Given the description of an element on the screen output the (x, y) to click on. 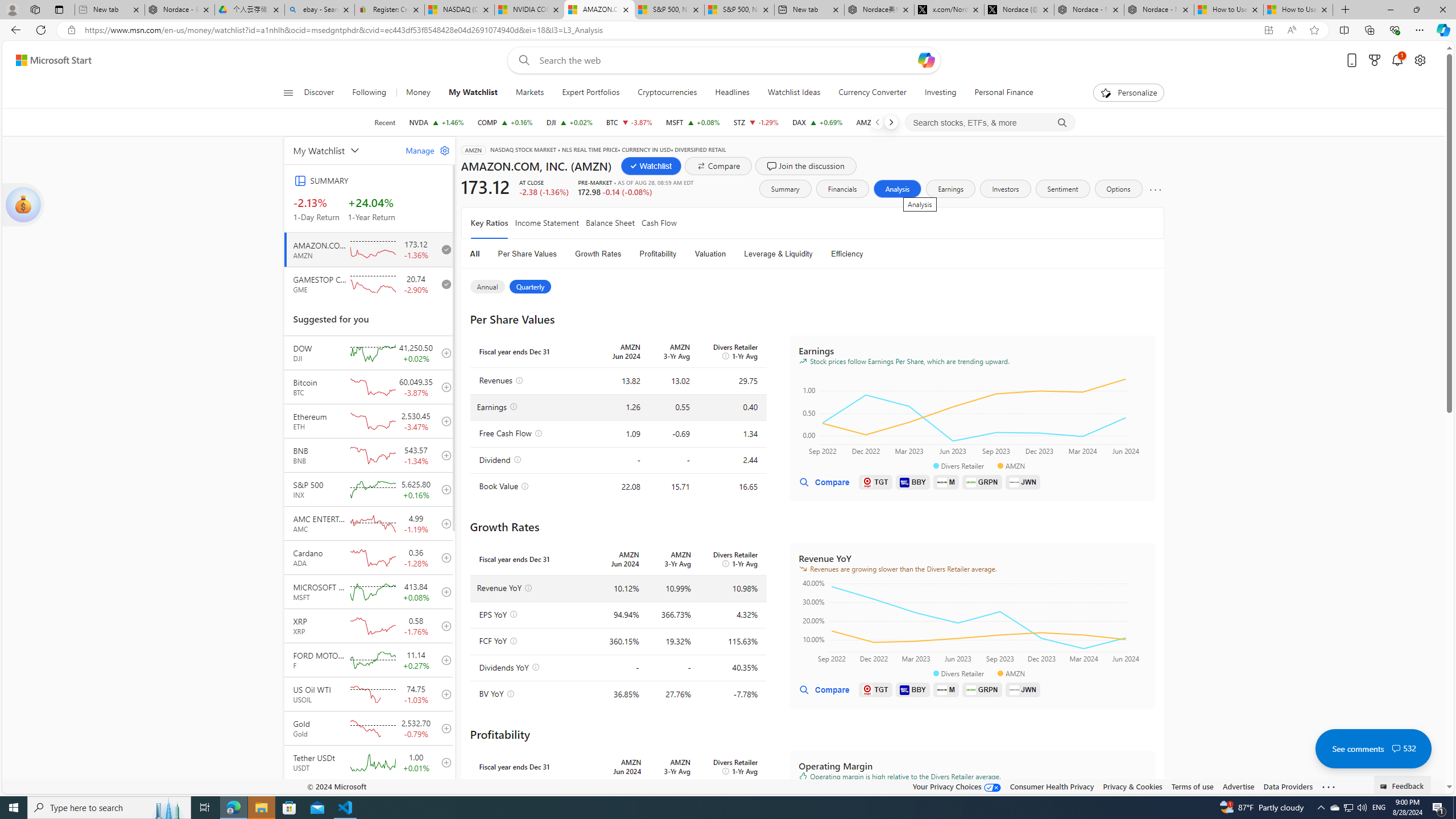
Skip to content (49, 59)
Class: cwt-icon-vector (1395, 748)
Notifications (1397, 60)
Data Providers (1288, 785)
Nordace (@NordaceOfficial) / X (1018, 9)
New tab - Sleeping (109, 9)
Search stocks, ETFs, & more (989, 122)
ebay - Search (319, 9)
Key Ratios (489, 223)
